Given the description of an element on the screen output the (x, y) to click on. 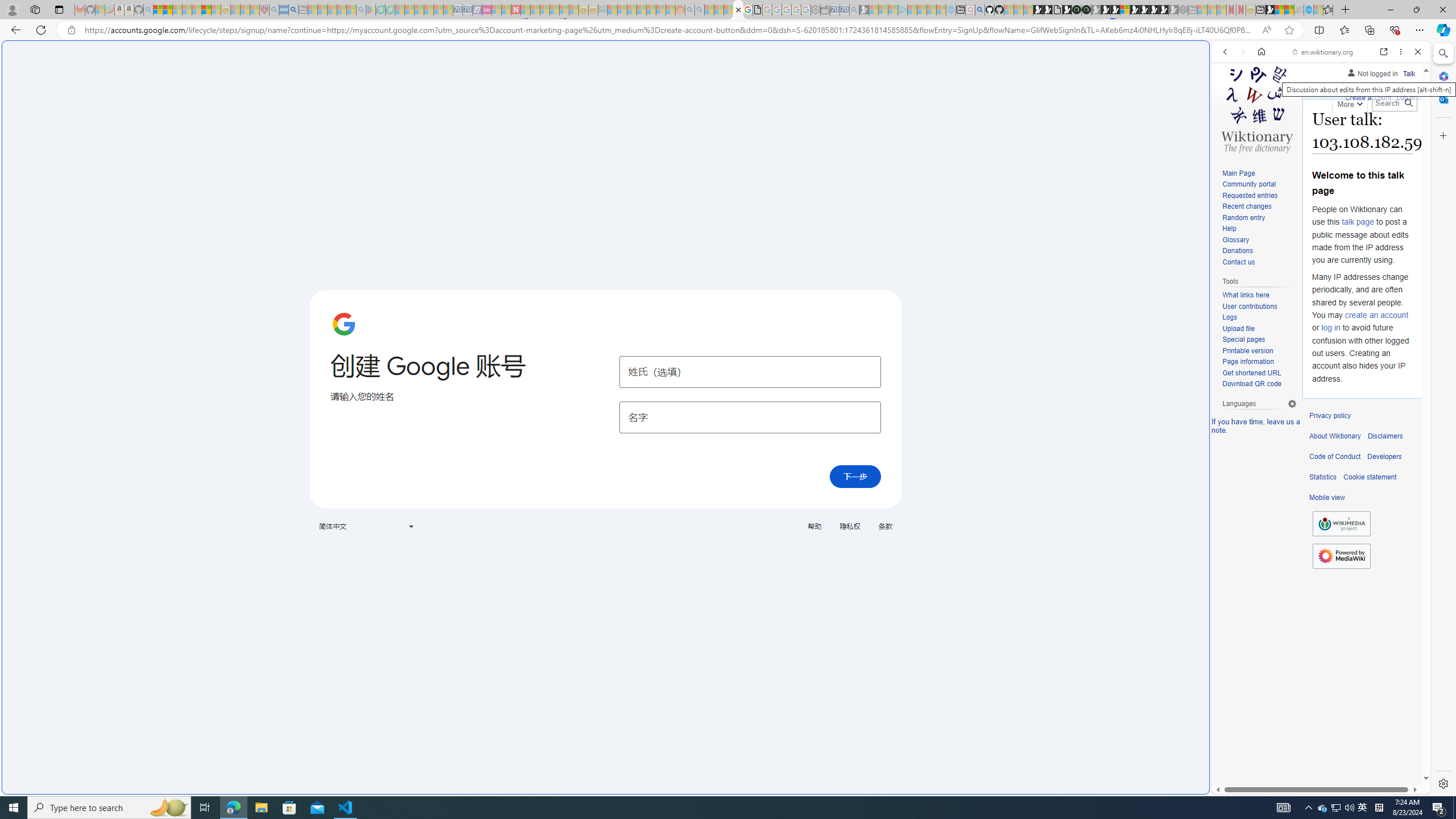
Contact us (1259, 262)
Main Page (1259, 173)
User page (1324, 87)
Bluey: Let's Play! - Apps on Google Play - Sleeping (370, 9)
Contact us (1238, 261)
Visit the main page (1257, 108)
